Given the description of an element on the screen output the (x, y) to click on. 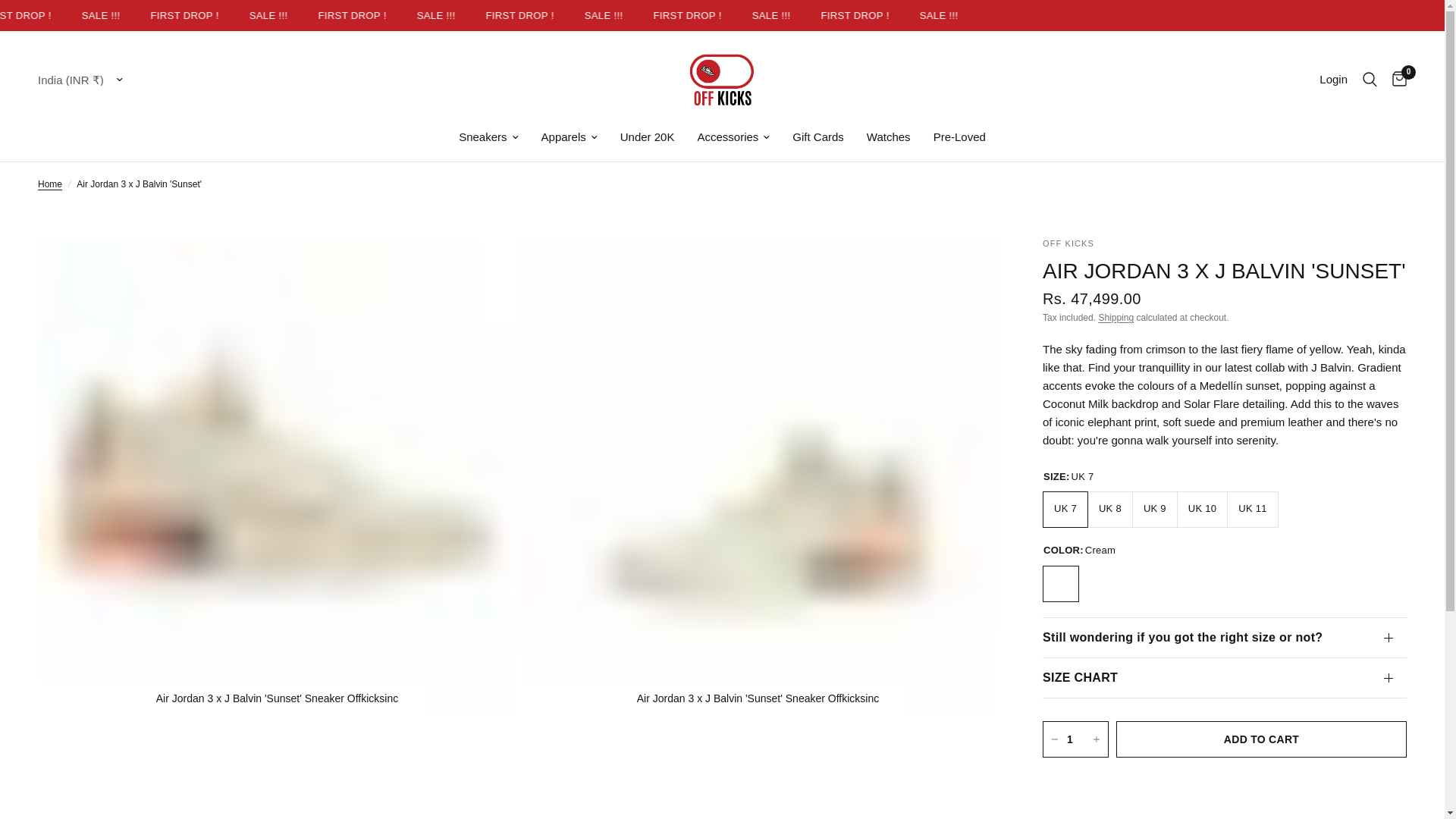
SALE !!! (1003, 15)
SALE !!! (669, 15)
SALE !!! (169, 15)
FIRST DROP ! (418, 15)
SALE !!! (836, 15)
FIRST DROP ! (753, 15)
FIRST DROP ! (86, 15)
FIRST DROP ! (252, 15)
